Given the description of an element on the screen output the (x, y) to click on. 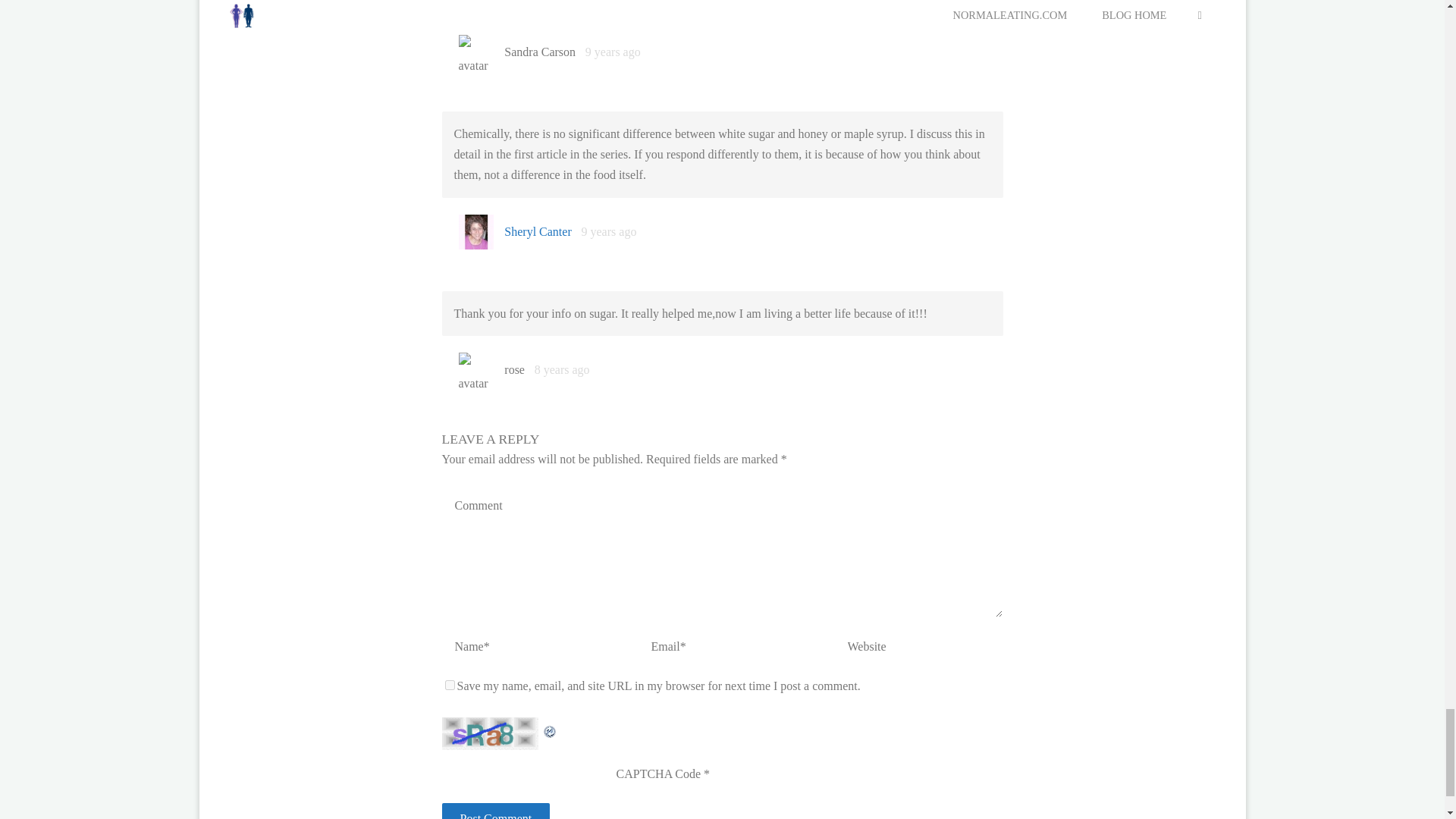
yes (449, 685)
Refresh (549, 727)
Post Comment (495, 811)
CAPTCHA (491, 733)
